Given the description of an element on the screen output the (x, y) to click on. 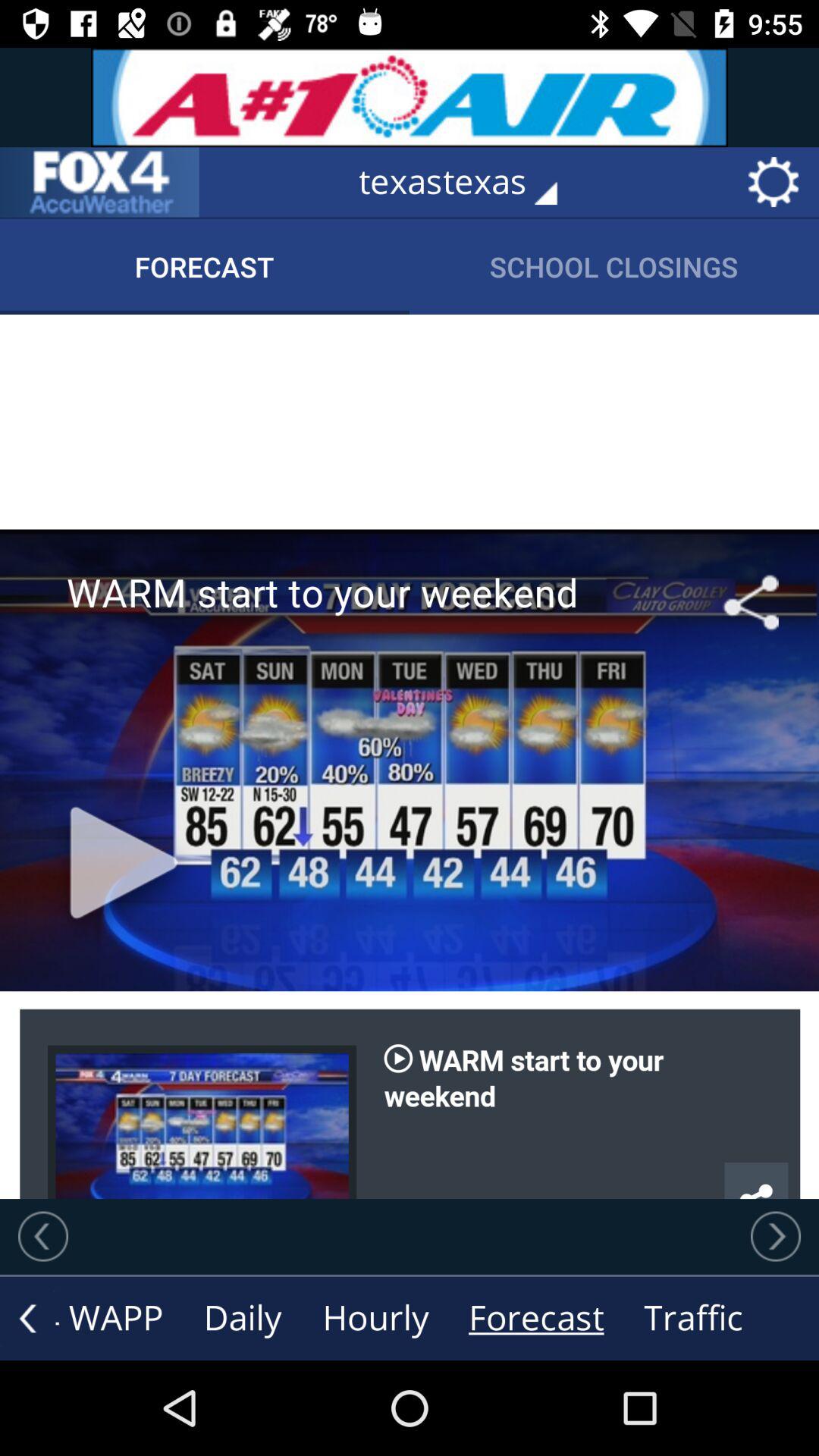
go back to previous page (43, 1236)
